Given the description of an element on the screen output the (x, y) to click on. 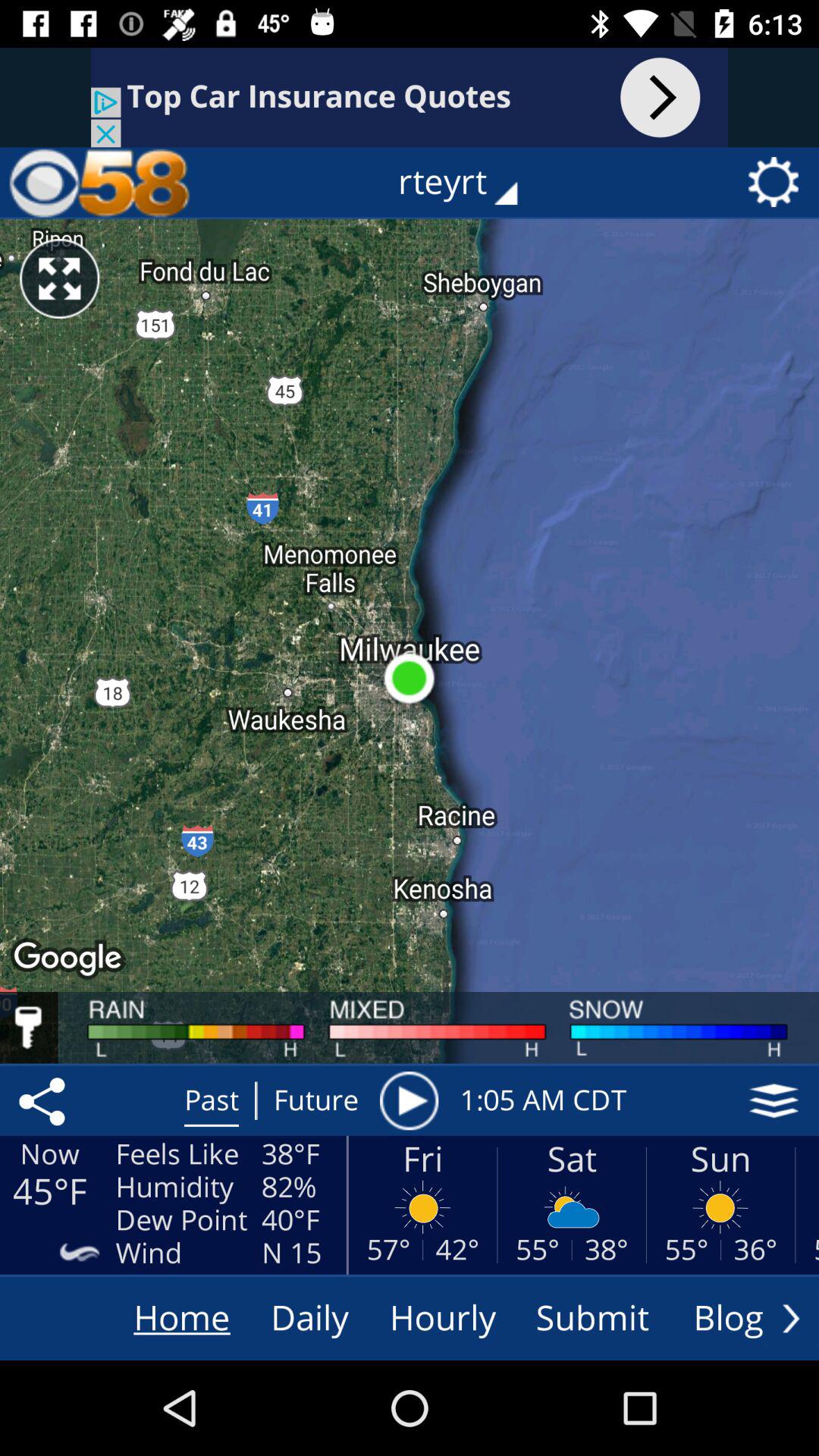
search bar (409, 97)
